Given the description of an element on the screen output the (x, y) to click on. 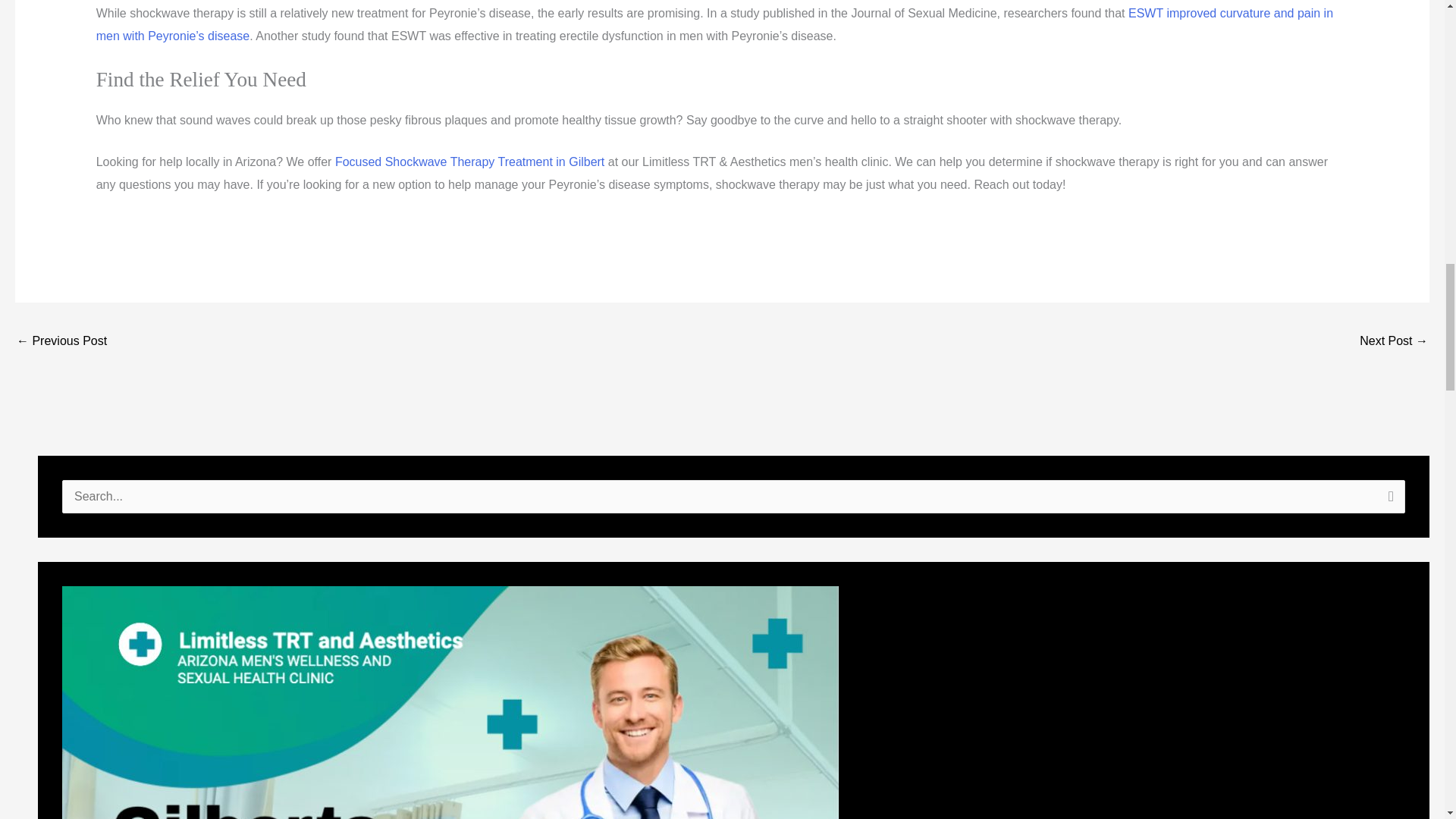
Why Do We Lose Muscle As We Age? How Testosterone Can Help. (61, 342)
